Given the description of an element on the screen output the (x, y) to click on. 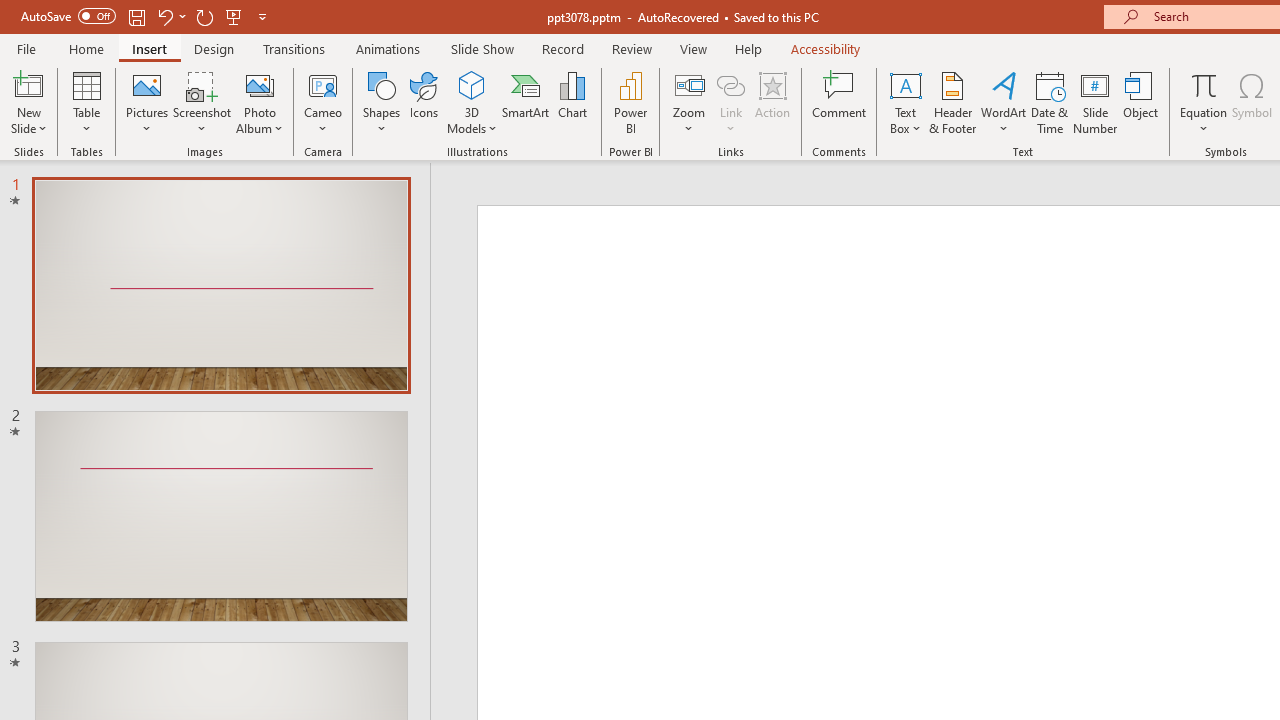
Slide Number (1095, 102)
Photo Album... (259, 102)
Draw Horizontal Text Box (905, 84)
SmartArt... (525, 102)
New Photo Album... (259, 84)
Action (772, 102)
